Given the description of an element on the screen output the (x, y) to click on. 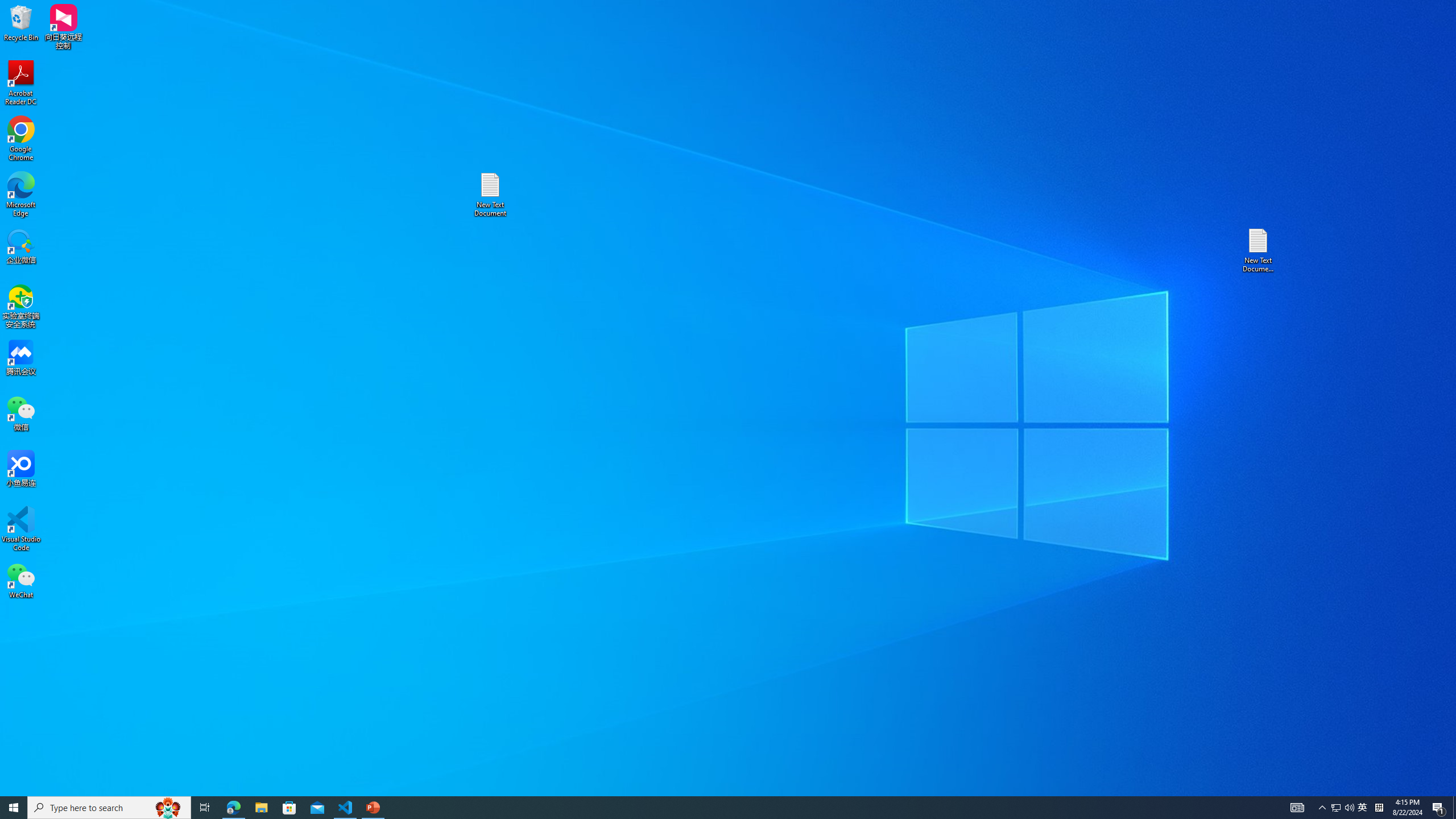
Record your presentations screenshot one (1326, 678)
Draw Horizontal Text Box (515, 48)
Date & Time... (596, 58)
Chart... (325, 58)
Record button in top bar (1324, 580)
Symbol... (711, 58)
New Photo Album... (147, 48)
